Given the description of an element on the screen output the (x, y) to click on. 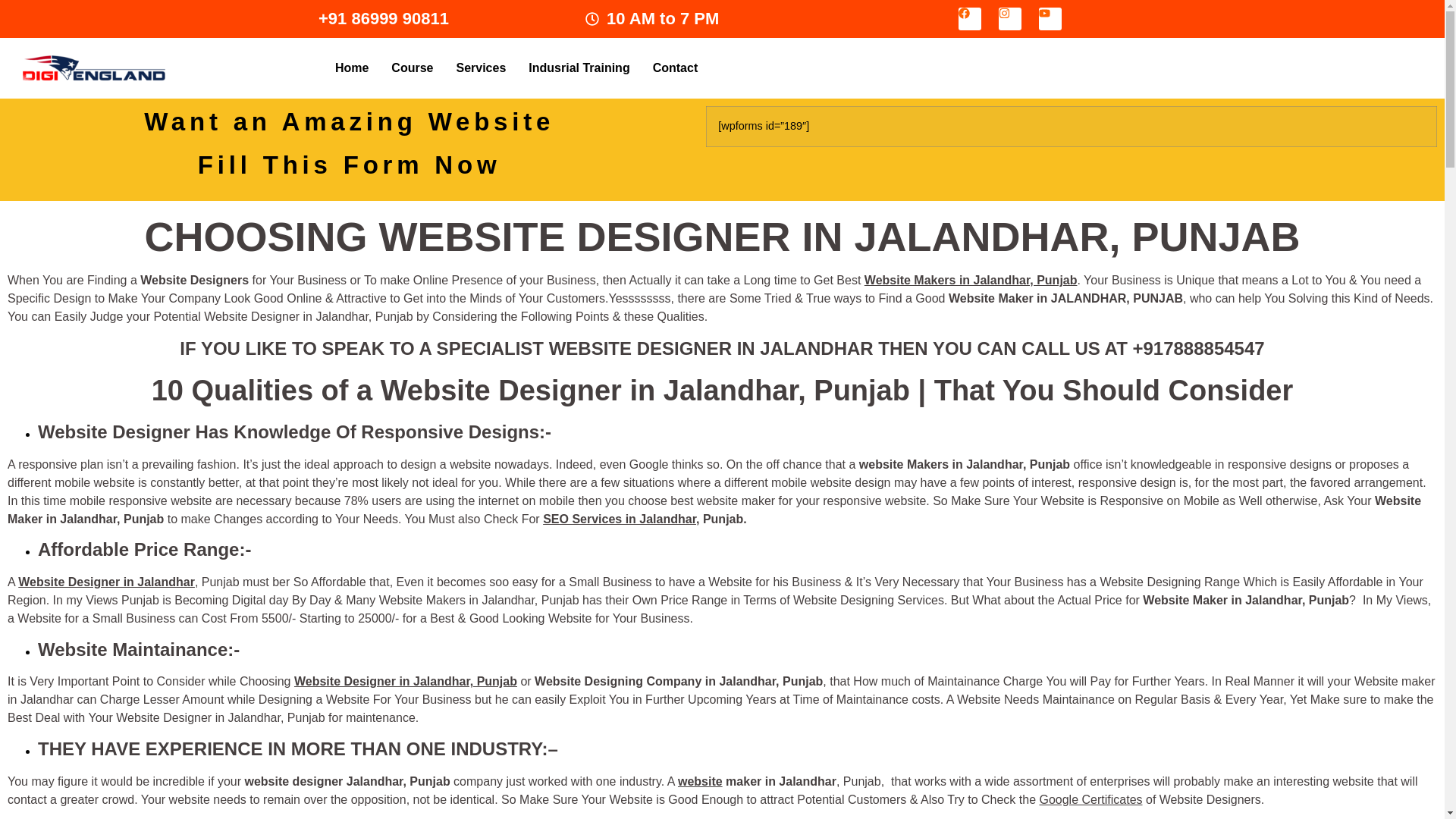
Website Designer in Jalandhar, Punjab (405, 680)
Home (351, 67)
Website Designer in Jalandhar (106, 581)
Contact (676, 67)
Course (412, 67)
Services (480, 67)
Indusrial Training (578, 67)
website (700, 780)
SEO Services in Jalandhar (619, 518)
Website Makers in Jalandhar, Punjab (970, 279)
Google Certificates (1090, 799)
